Given the description of an element on the screen output the (x, y) to click on. 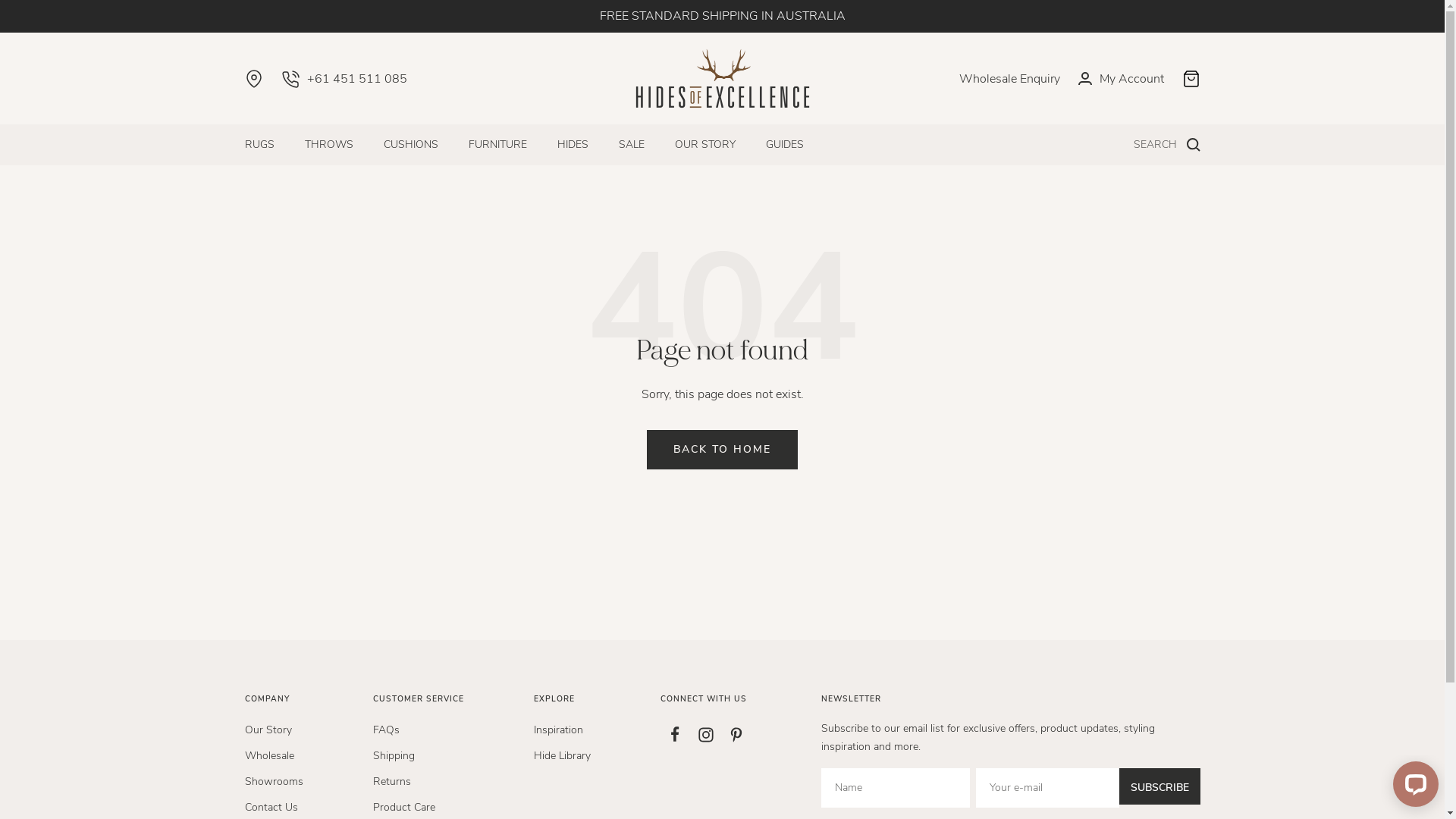
CUSHIONS Element type: text (410, 144)
Product Care Element type: text (404, 807)
Hide Library Element type: text (561, 755)
Showrooms Element type: text (273, 781)
SALE Element type: text (631, 144)
Wholesale Enquiry Element type: text (1008, 78)
Returns Element type: text (392, 781)
Inspiration Element type: text (558, 729)
FURNITURE Element type: text (497, 144)
Our Story Element type: text (267, 729)
My Account Element type: text (1121, 78)
Wholesale Element type: text (268, 755)
FAQs Element type: text (386, 729)
BACK TO HOME Element type: text (721, 449)
THROWS Element type: text (328, 144)
Shipping Element type: text (393, 755)
GUIDES Element type: text (784, 144)
+61 451 511 085 Element type: text (343, 78)
RUGS Element type: text (258, 144)
HIDES Element type: text (571, 144)
Hides Of Excellence Element type: text (722, 78)
OUR STORY Element type: text (704, 144)
SUBSCRIBE Element type: text (1159, 786)
Contact Us Element type: text (270, 807)
AU Element type: text (316, 794)
